Given the description of an element on the screen output the (x, y) to click on. 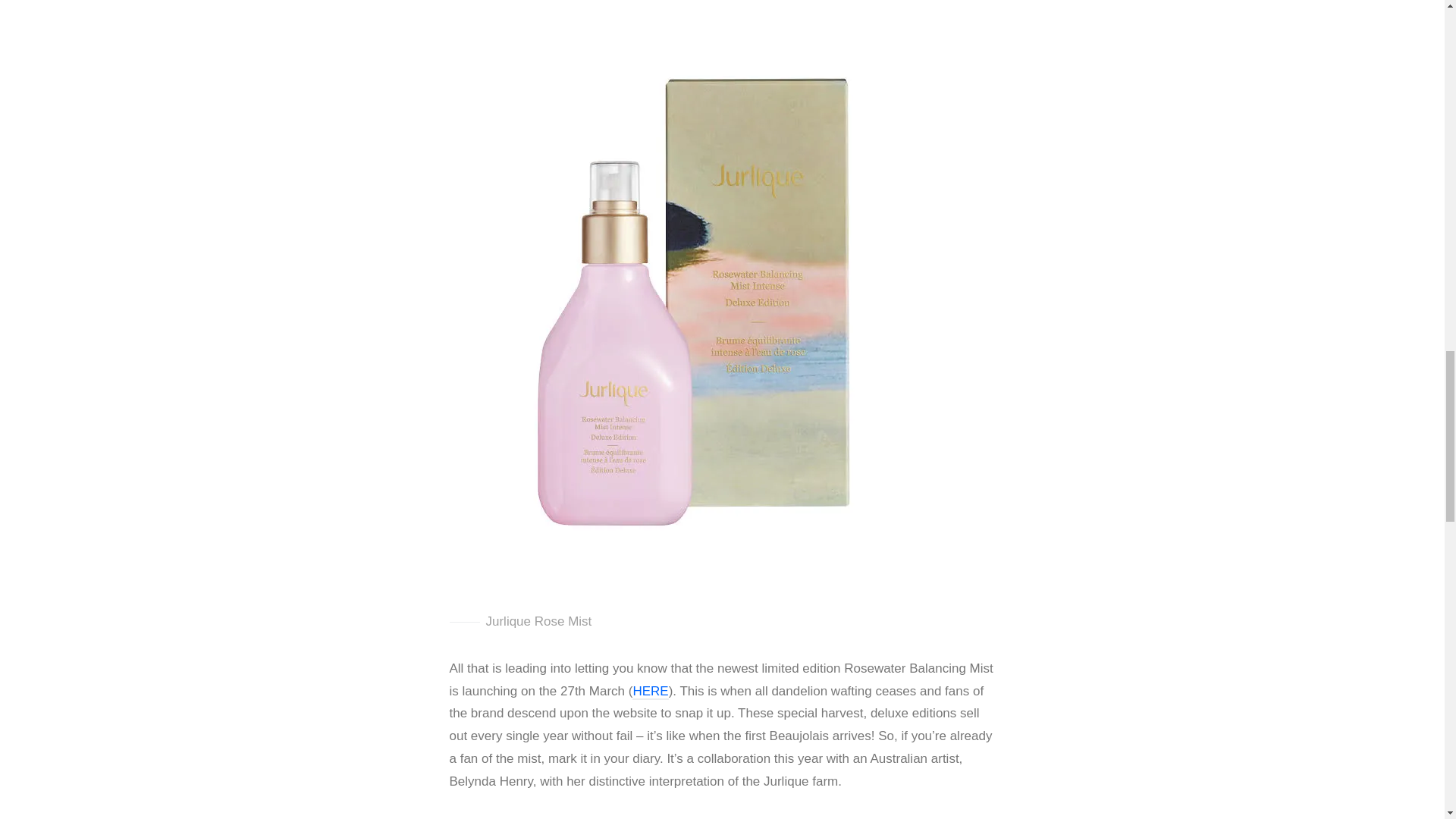
HERE (649, 691)
